Given the description of an element on the screen output the (x, y) to click on. 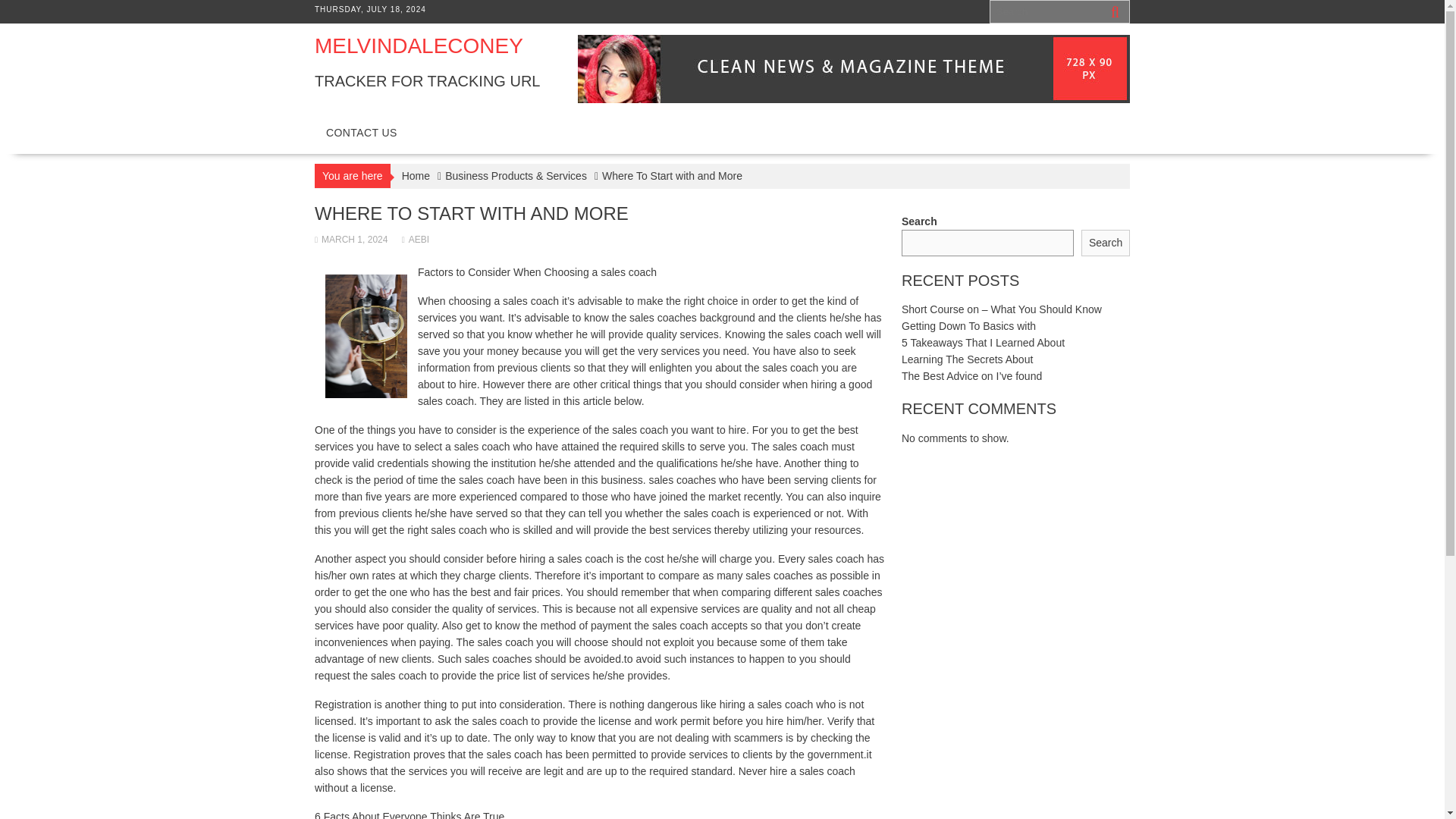
Home (415, 175)
6 Facts About Everyone Thinks Are True (408, 814)
Getting Down To Basics with (968, 326)
5 Takeaways That I Learned About (982, 342)
Search (1105, 243)
MELVINDALECONEY (418, 45)
CONTACT US (361, 132)
MARCH 1, 2024 (350, 239)
AEBI (415, 239)
Learning The Secrets About (966, 358)
